Given the description of an element on the screen output the (x, y) to click on. 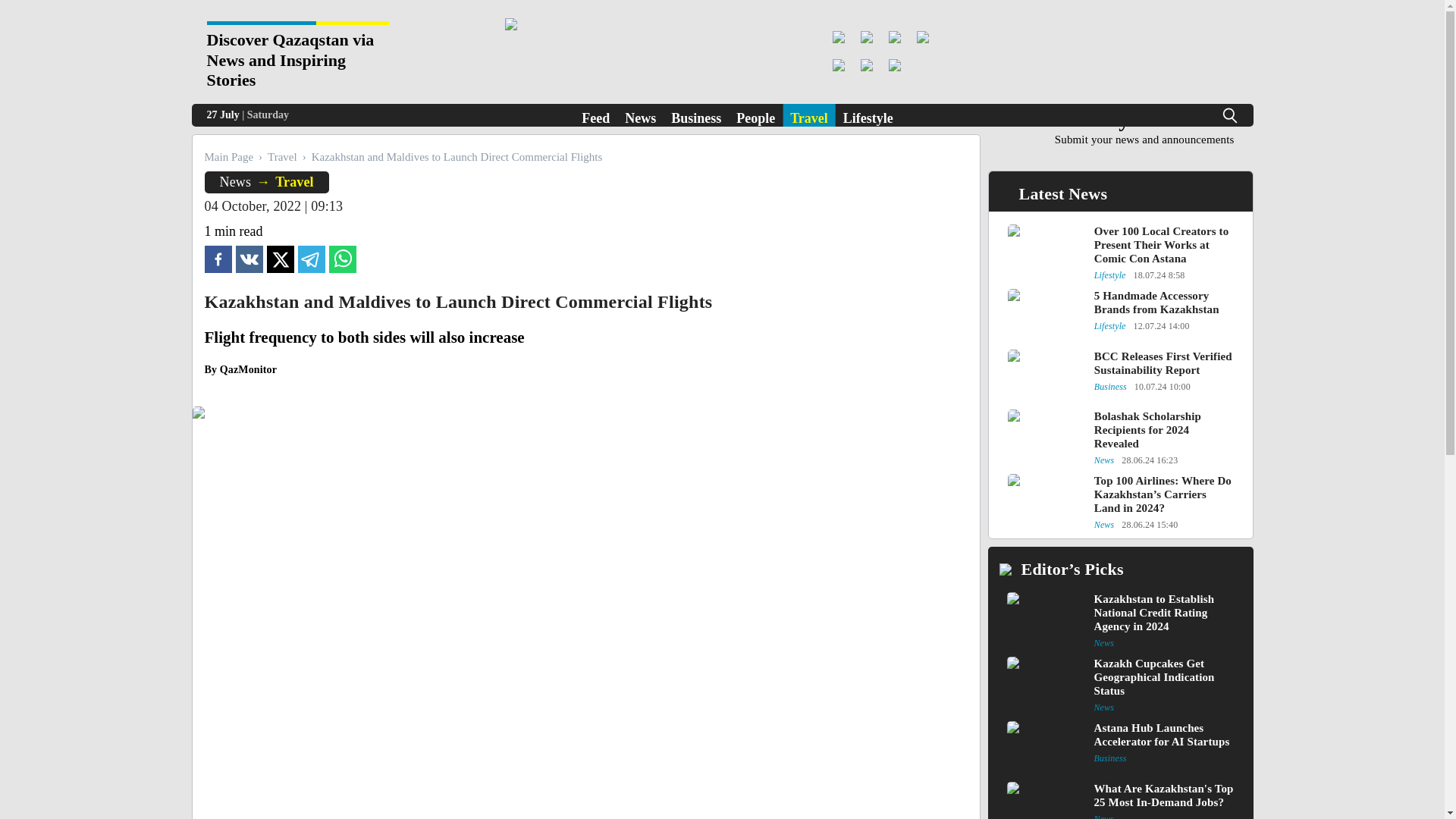
People (756, 115)
Travel (809, 115)
Lifestyle (868, 115)
Feed (595, 115)
Travel (294, 181)
Main Page (229, 156)
Travel (282, 156)
News (640, 115)
Business (696, 115)
Kazakhstan and Maldives to Launch Direct Commercial Flights (218, 260)
News (1144, 126)
